Given the description of an element on the screen output the (x, y) to click on. 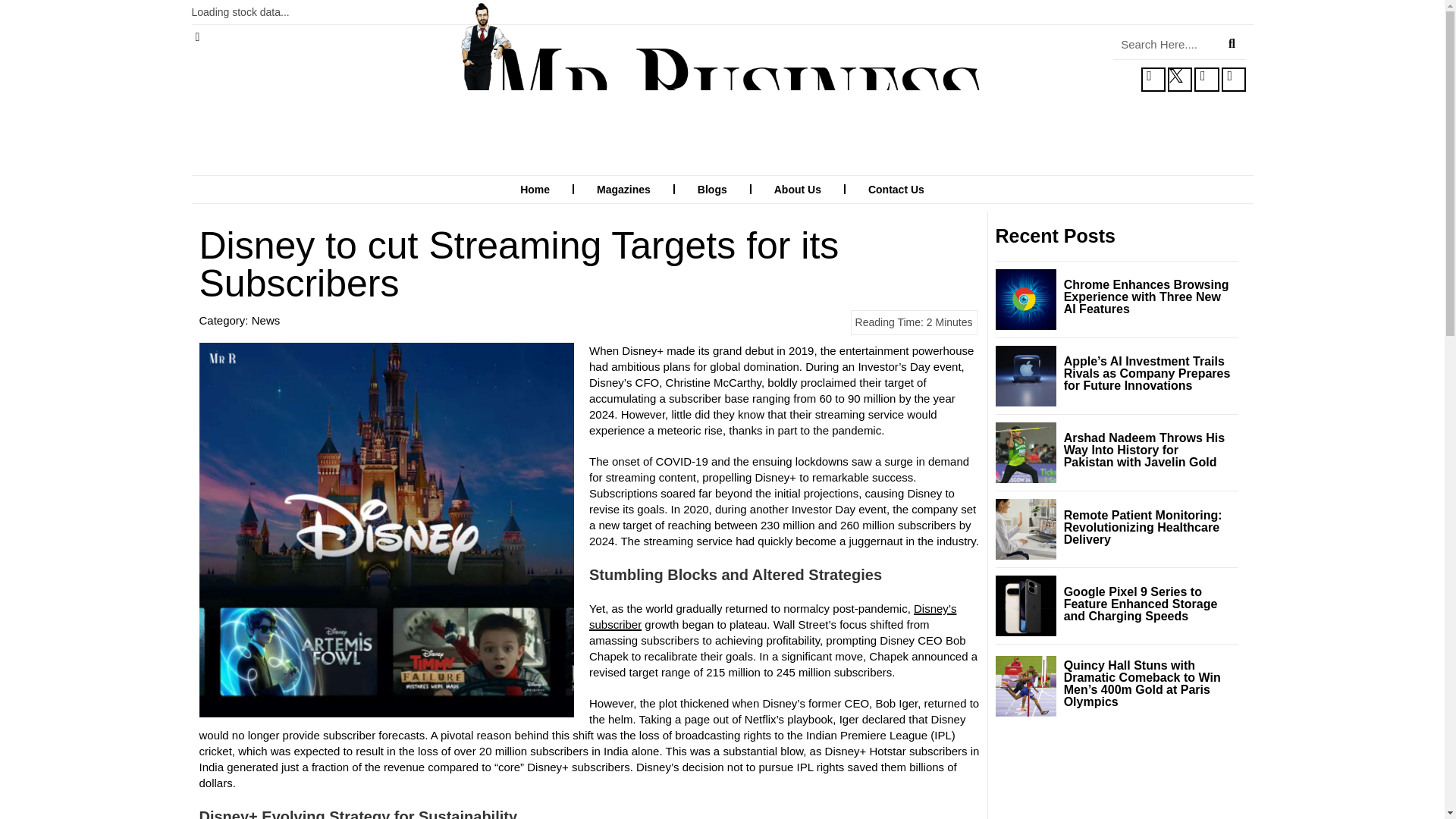
News (266, 319)
About Us (796, 189)
Contact Us (896, 189)
Blogs (712, 189)
Home (534, 189)
Magazines (622, 189)
